Given the description of an element on the screen output the (x, y) to click on. 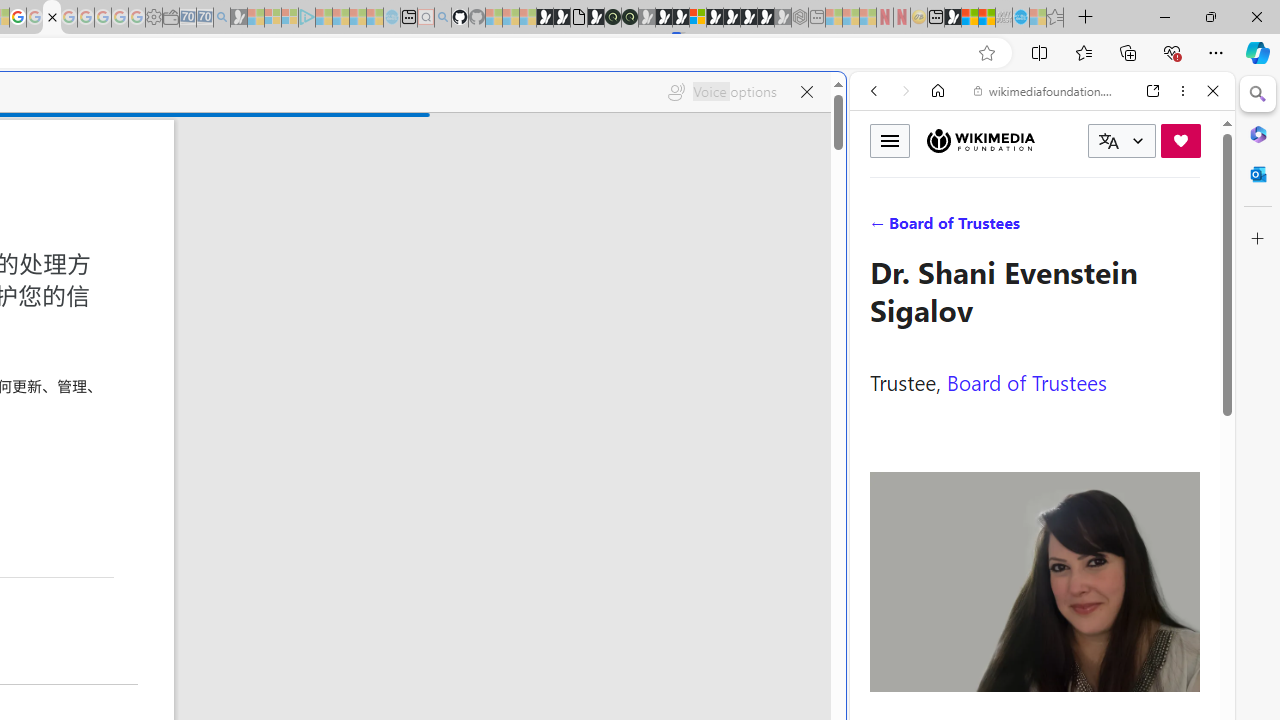
Close read aloud (805, 92)
Wiktionary (1034, 669)
